Given the description of an element on the screen output the (x, y) to click on. 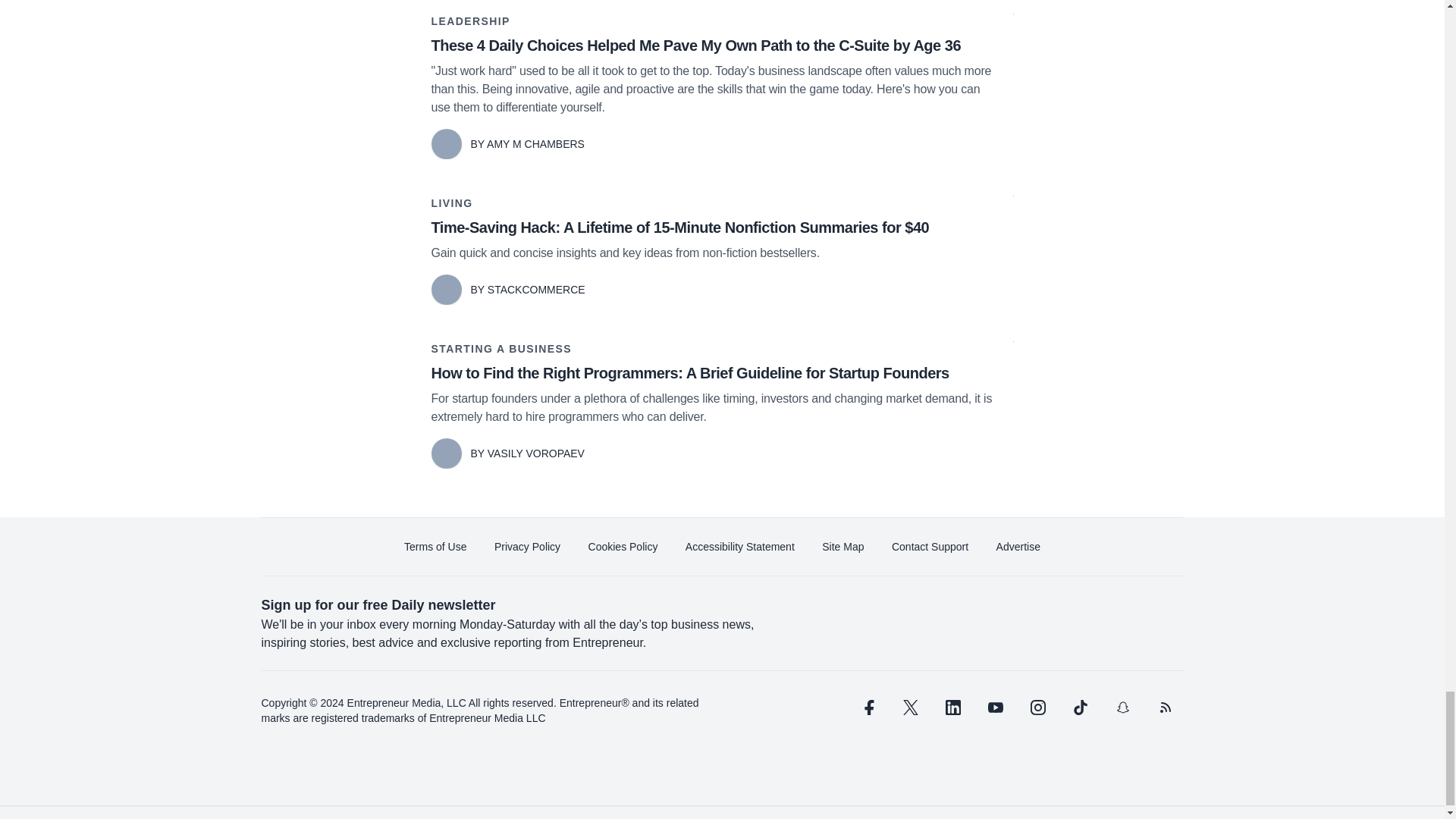
instagram (1037, 707)
twitter (909, 707)
snapchat (1121, 707)
youtube (994, 707)
linkedin (952, 707)
tiktok (1079, 707)
facebook (866, 707)
